Given the description of an element on the screen output the (x, y) to click on. 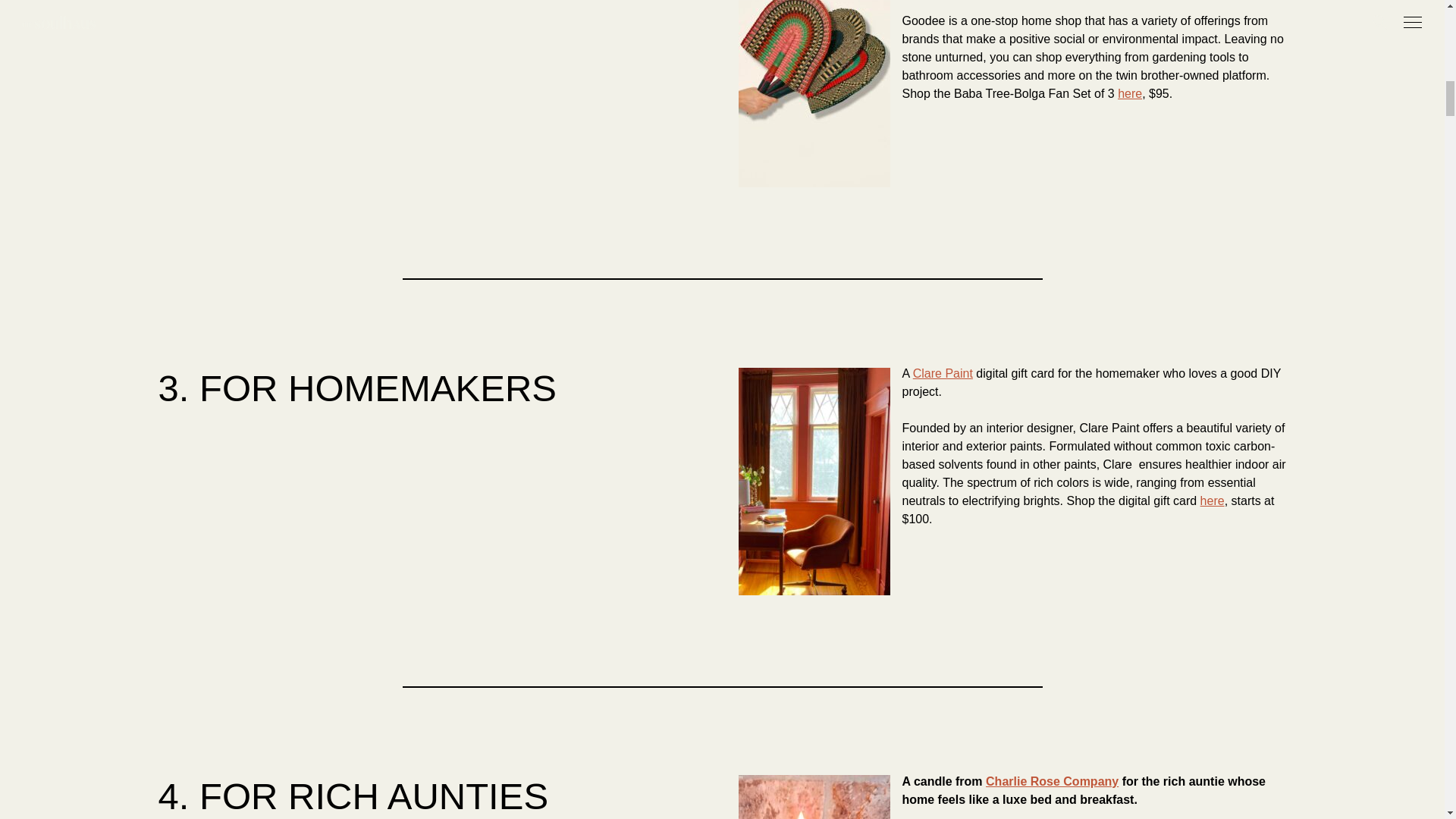
Clare Paint (942, 373)
here (1129, 92)
Charlie Rose Company (1051, 780)
here (1211, 500)
